Given the description of an element on the screen output the (x, y) to click on. 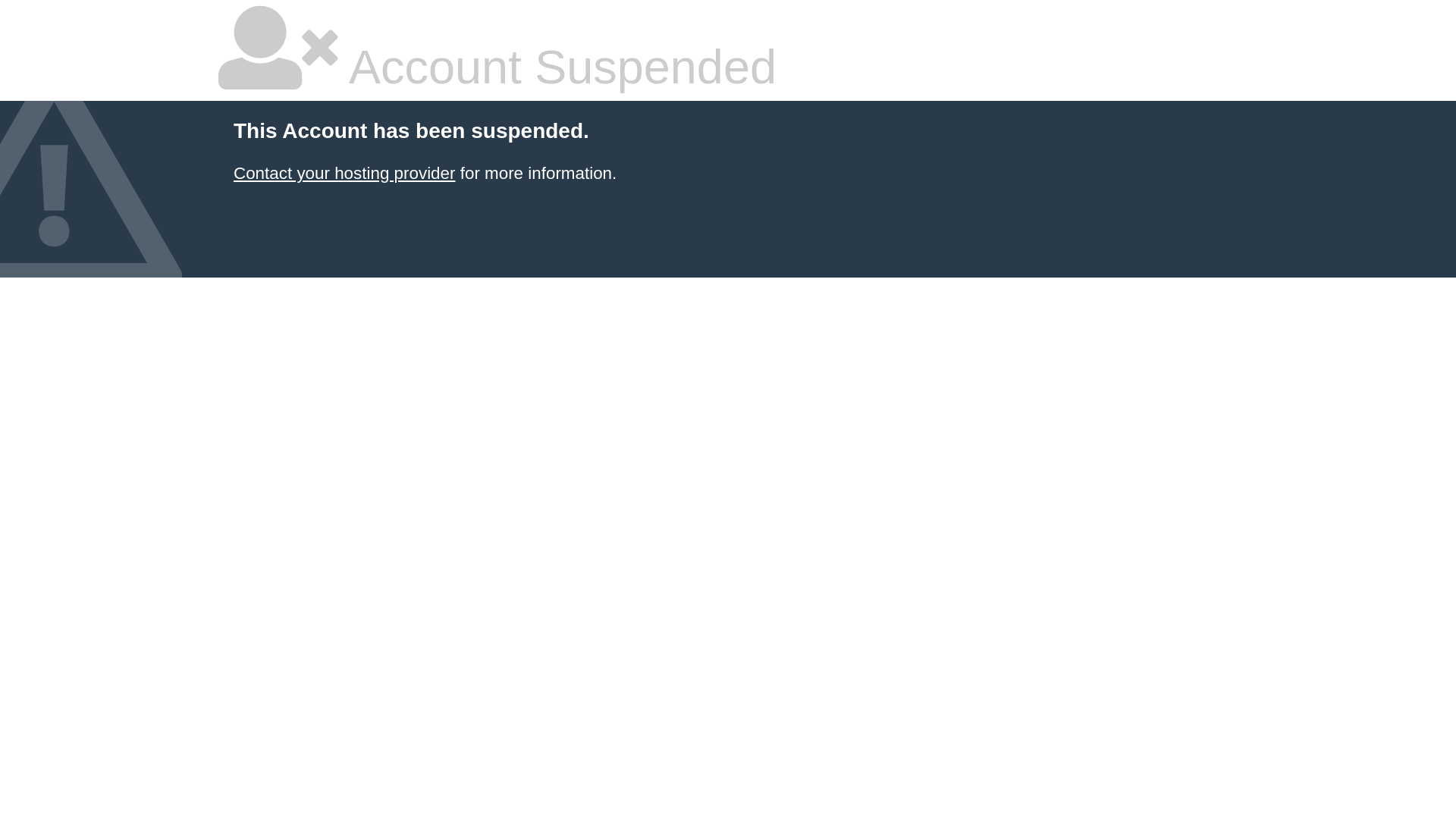
Contact your hosting provider Element type: text (344, 172)
